Given the description of an element on the screen output the (x, y) to click on. 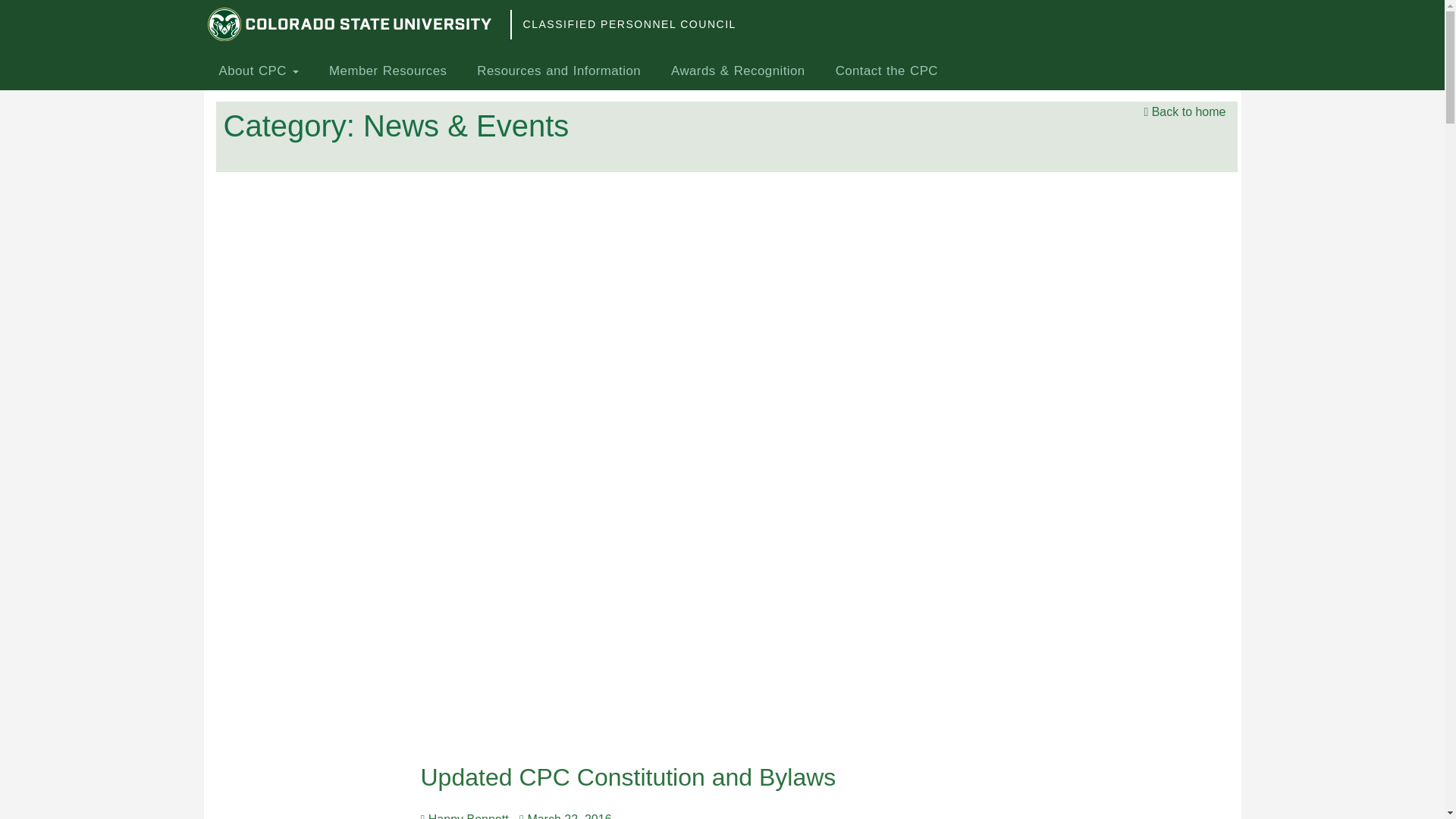
CLASSIFIED PERSONNEL COUNCIL (629, 24)
Contact the CPC (887, 71)
Updated CPC Constitution and Bylaws (631, 777)
Posts by Happy Bennett (467, 816)
Back to home (1183, 111)
Happy Bennett (467, 816)
March 22, 2016 (568, 816)
Member Resources (387, 71)
Resources and Information (558, 71)
About CPC (258, 71)
